Given the description of an element on the screen output the (x, y) to click on. 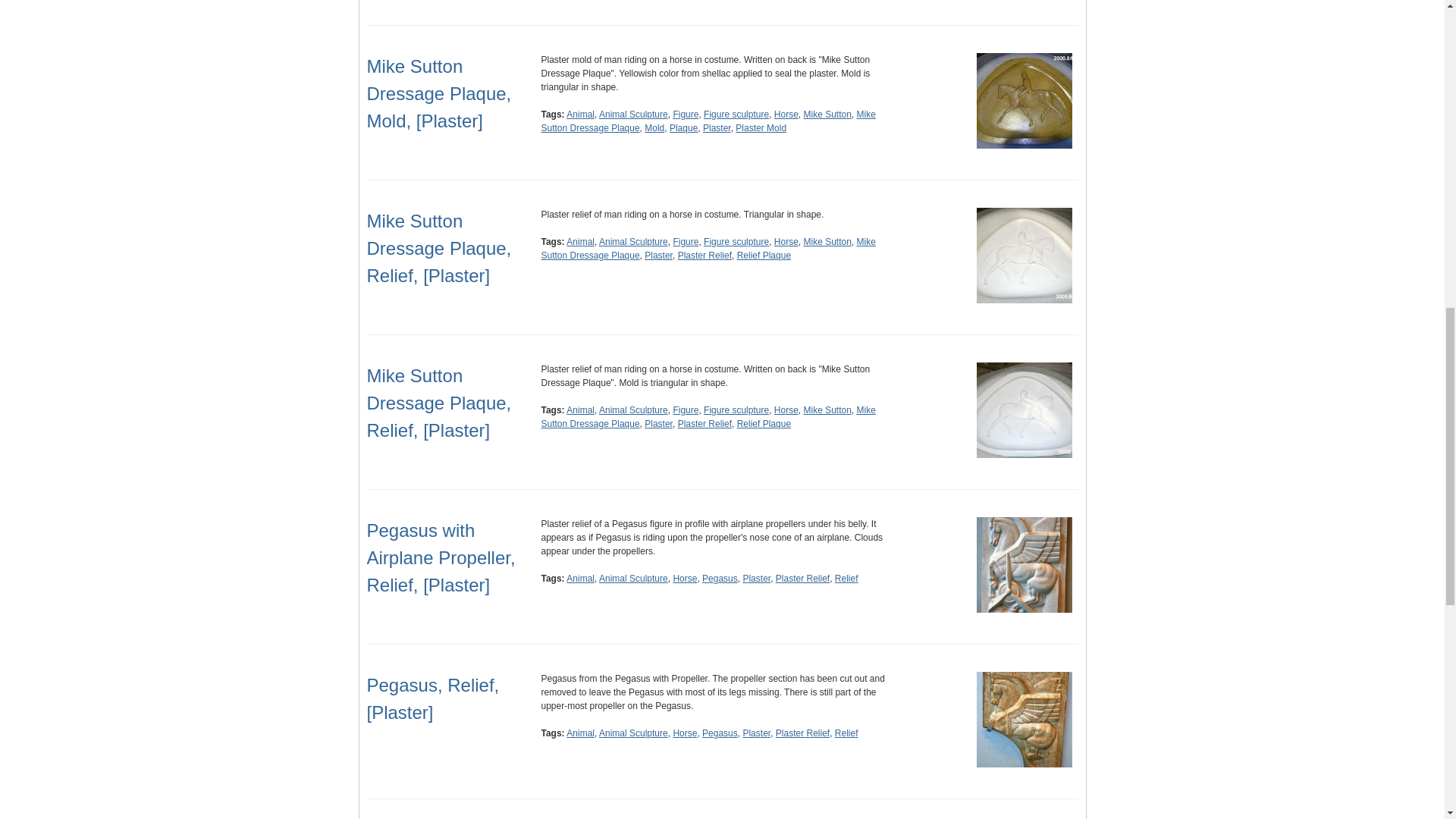
2000.844.jpg (1023, 409)
2000.842.jpg (1023, 100)
2000.843.jpg (1023, 255)
